Given the description of an element on the screen output the (x, y) to click on. 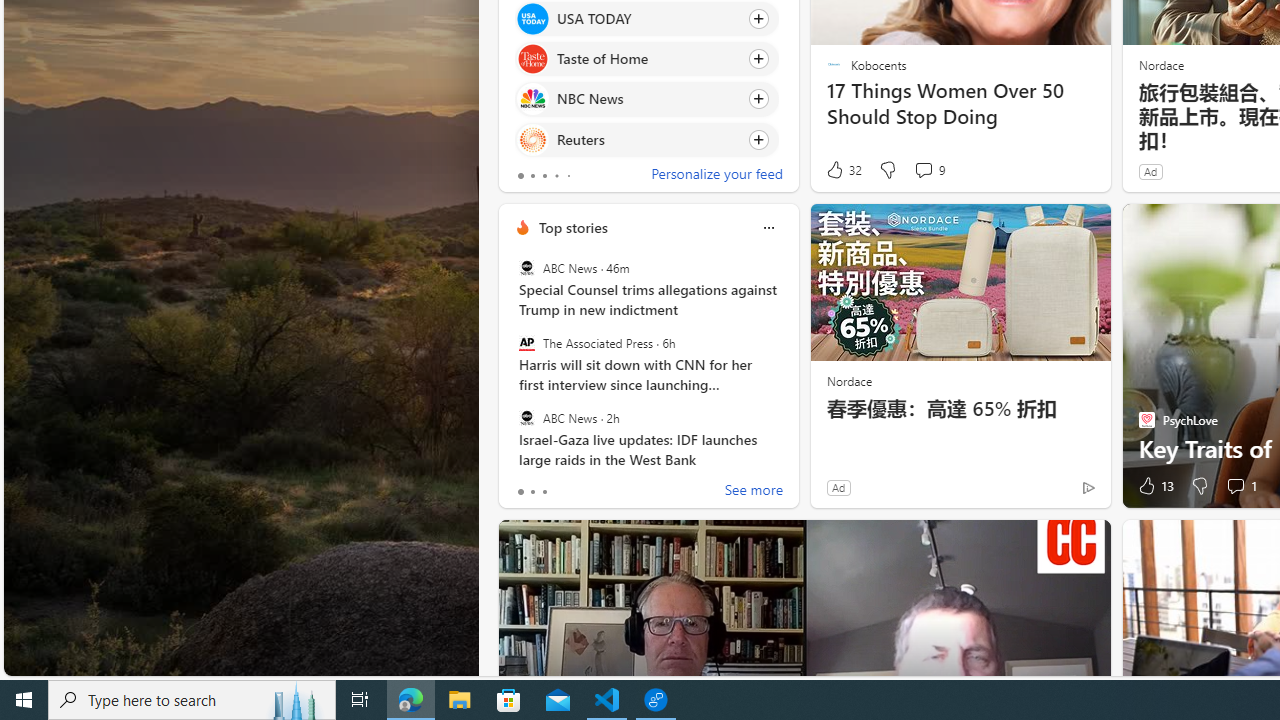
tab-2 (543, 491)
Class: icon-img (768, 228)
View comments 9 Comment (923, 169)
Top stories (572, 227)
13 Like (1154, 485)
